Given the description of an element on the screen output the (x, y) to click on. 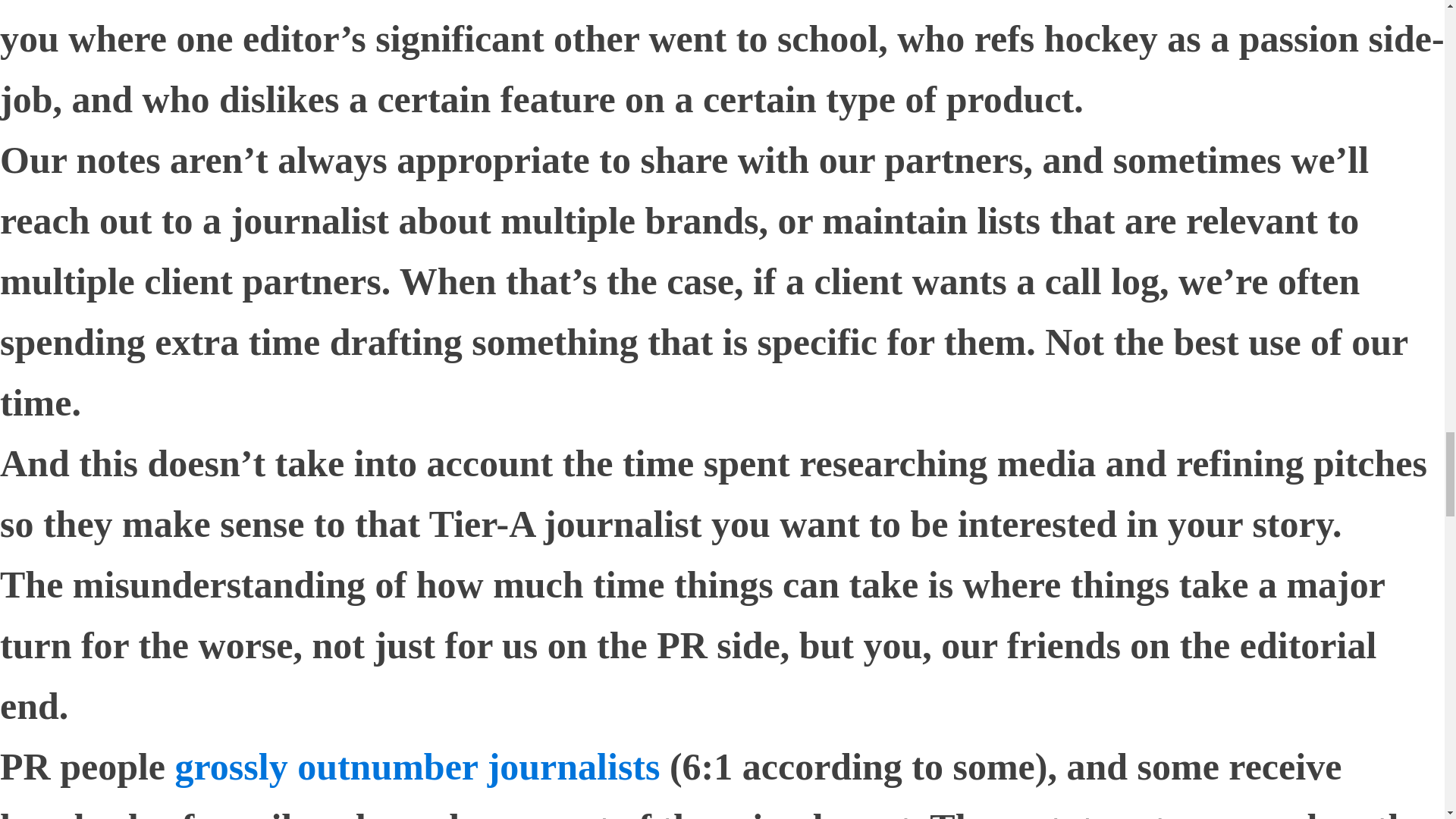
grossly outnumber journalists (417, 766)
